Given the description of an element on the screen output the (x, y) to click on. 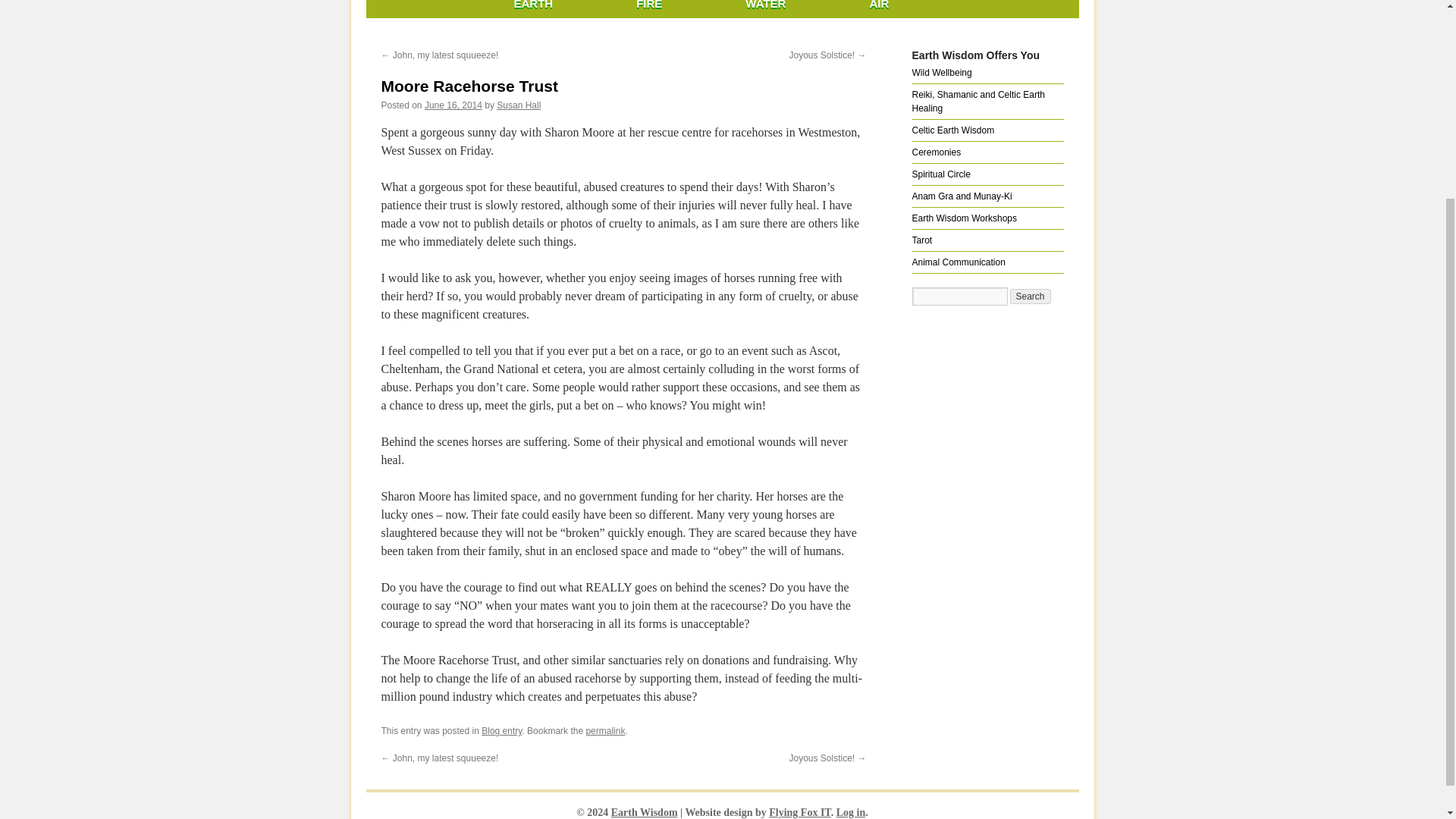
Log in (850, 812)
permalink (604, 730)
Search (1030, 296)
Permalink to Moore Racehorse Trust (604, 730)
Air (878, 9)
Reiki, Shamanic and Celtic Earth Healing (977, 101)
Anam Gra and Munay-Ki (961, 195)
Susan Hall (518, 104)
12:33 pm (453, 104)
FIRE (648, 9)
